Given the description of an element on the screen output the (x, y) to click on. 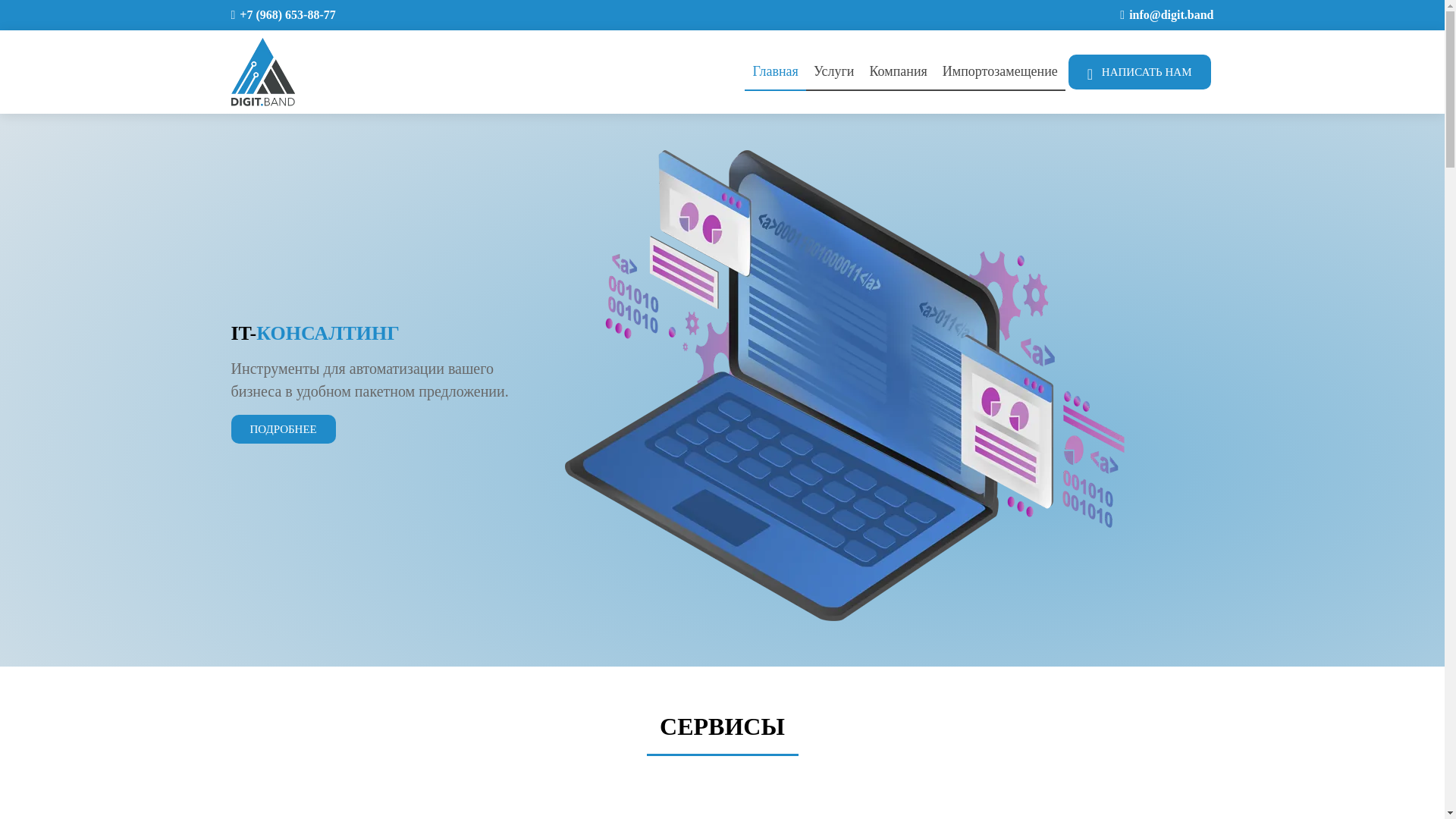
+7 (968) 653-88-77 Element type: text (287, 15)
info@digit.band Element type: text (1171, 15)
